Given the description of an element on the screen output the (x, y) to click on. 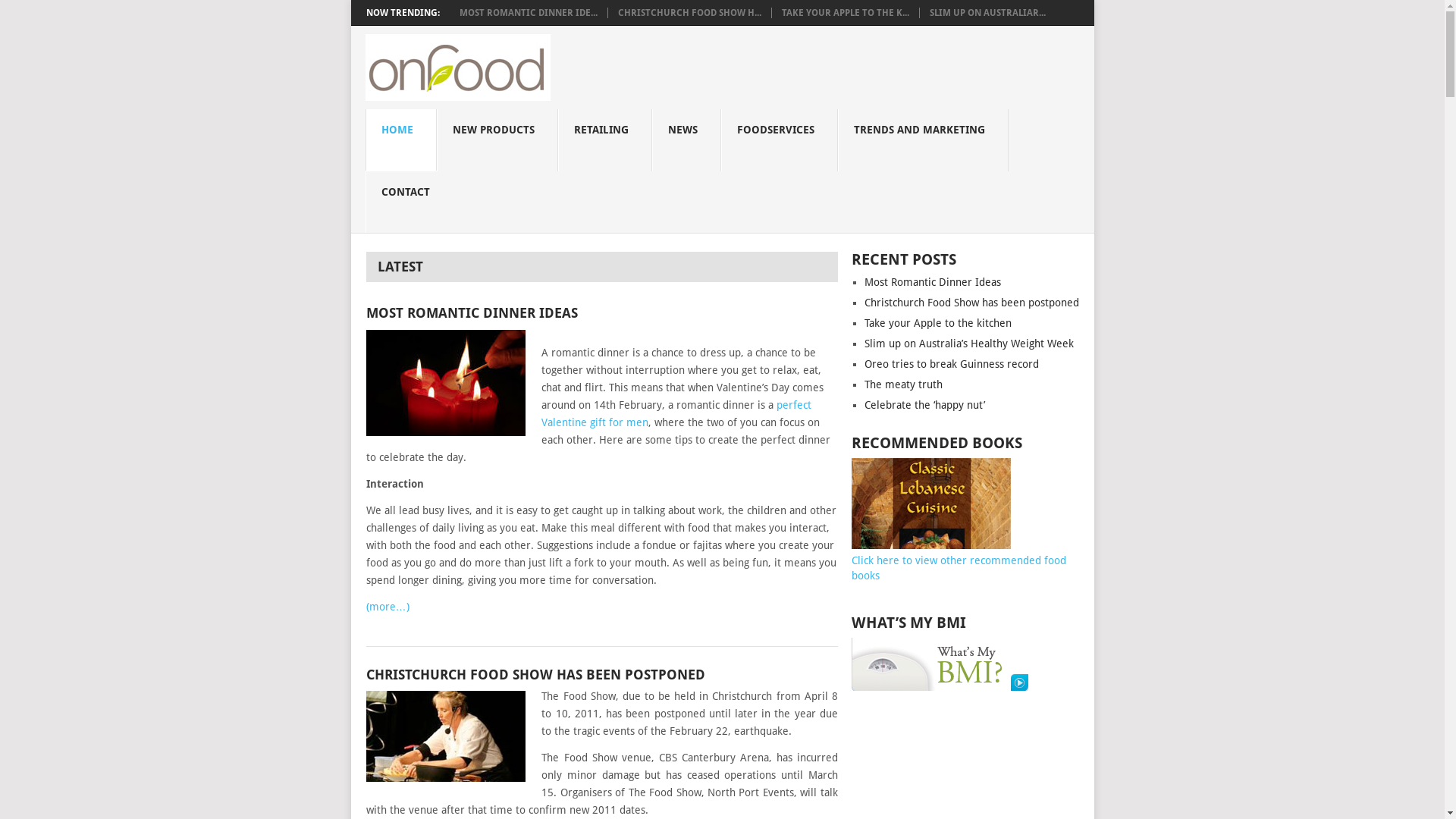
SLIM UP ON AUSTRALIAR... Element type: text (987, 12)
MOST ROMANTIC DINNER IDE... Element type: text (528, 12)
Click here to view other recommended food books Element type: text (957, 560)
NEWS Element type: text (686, 140)
CONTACT Element type: text (408, 202)
MOST ROMANTIC DINNER IDEAS Element type: text (601, 312)
Christchurch Food Show has been postponed Element type: text (971, 302)
Take your Apple to the kitchen Element type: text (937, 322)
Most Romantic Dinner Ideas Element type: text (932, 282)
perfect Valentine gift for men Element type: text (676, 413)
CHRISTCHURCH FOOD SHOW H... Element type: text (688, 12)
CHRISTCHURCH FOOD SHOW HAS BEEN POSTPONED Element type: text (601, 674)
TRENDS AND MARKETING Element type: text (922, 140)
Oreo tries to break Guinness record Element type: text (951, 363)
NEW PRODUCTS Element type: text (497, 140)
HOME Element type: text (400, 140)
FOODSERVICES Element type: text (779, 140)
TAKE YOUR APPLE TO THE K... Element type: text (844, 12)
The meaty truth Element type: text (903, 384)
RETAILING Element type: text (605, 140)
